Given the description of an element on the screen output the (x, y) to click on. 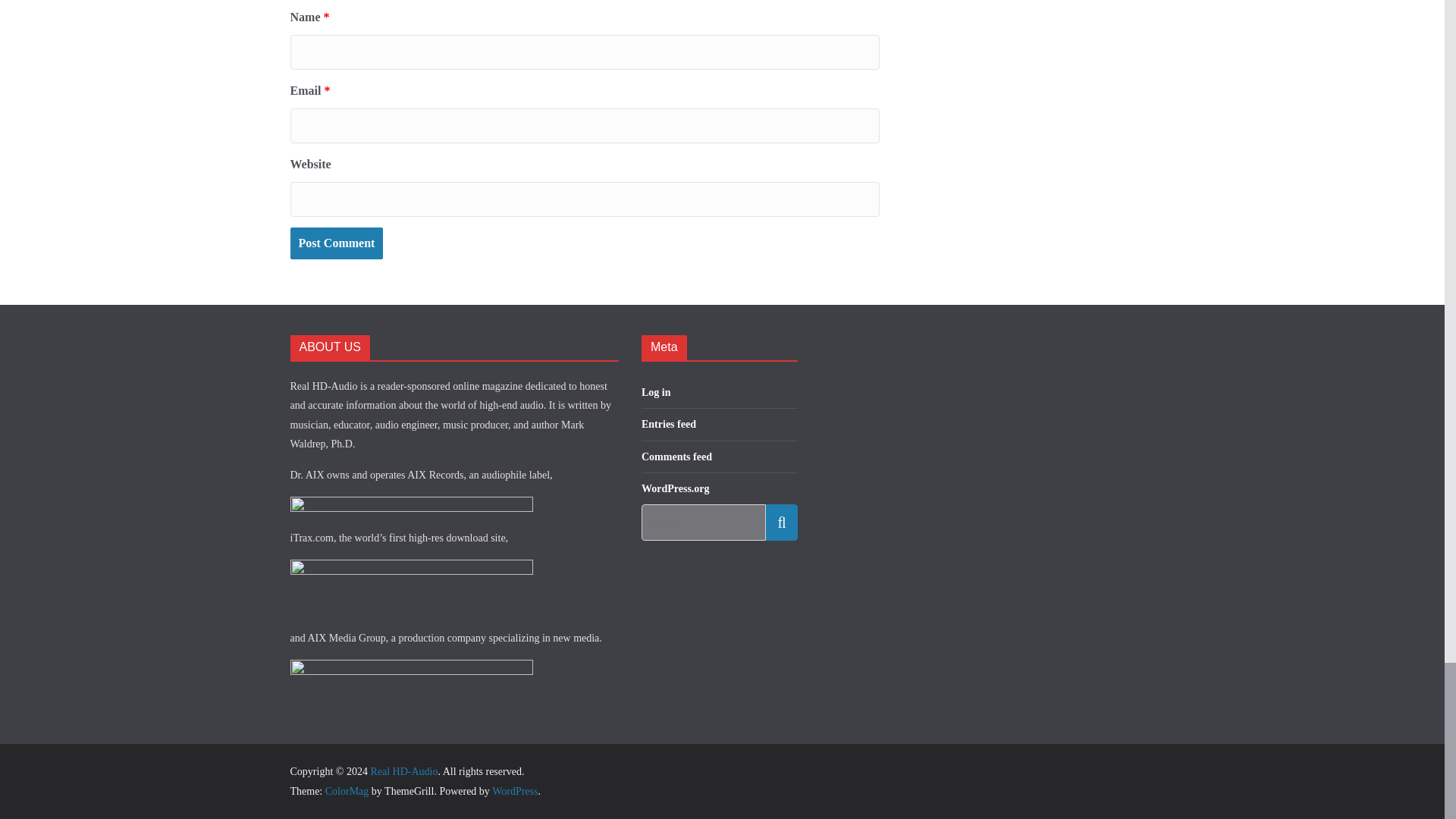
WordPress (514, 790)
Real HD-Audio (403, 771)
Post Comment (335, 243)
ColorMag (346, 790)
Post Comment (335, 243)
